Given the description of an element on the screen output the (x, y) to click on. 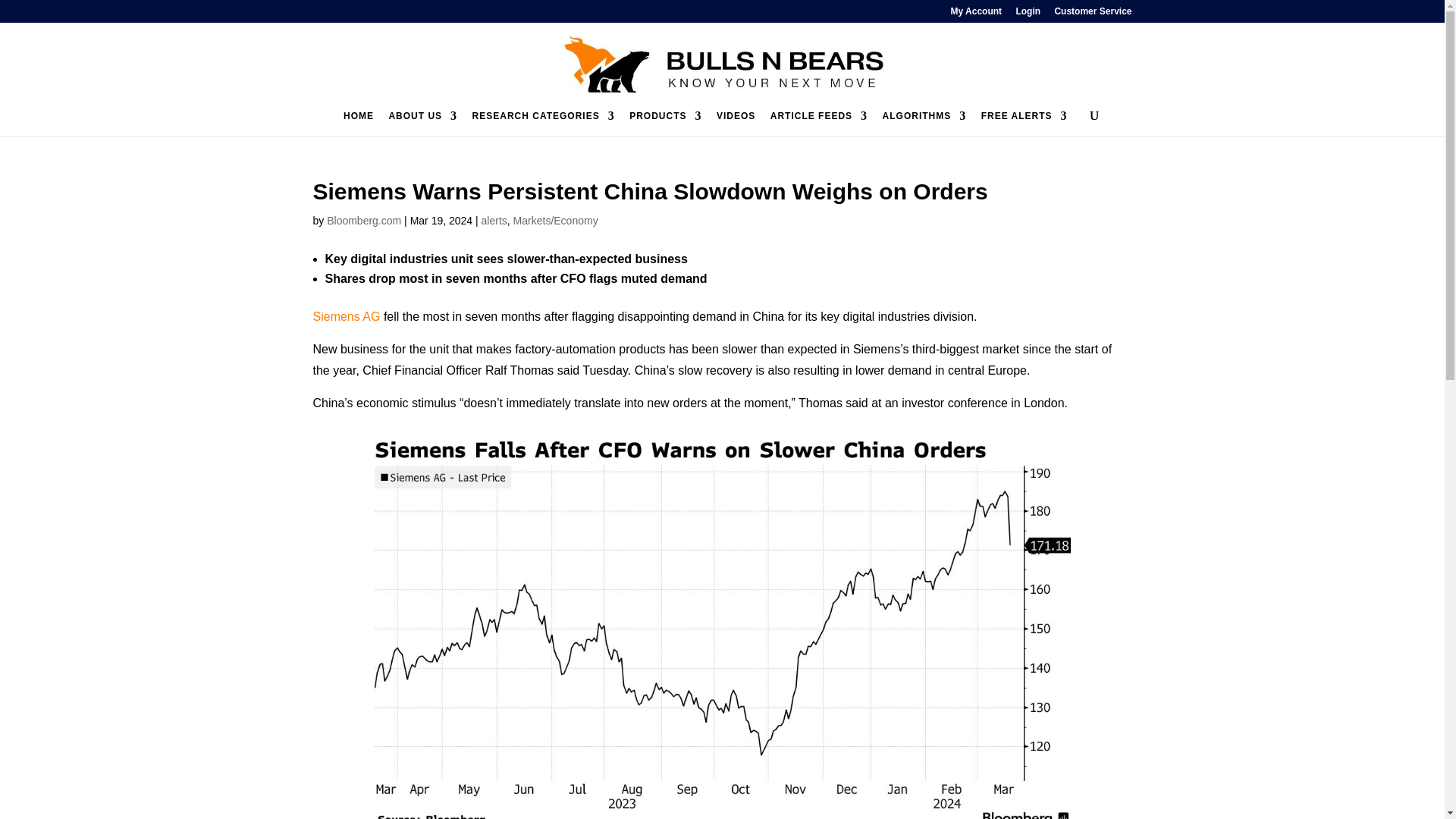
Posts by Bloomberg.com (363, 220)
Customer Service (1092, 14)
FREE ALERTS (1024, 123)
ALGORITHMS (924, 123)
My Account (976, 14)
RESEARCH CATEGORIES (542, 123)
ARTICLE FEEDS (818, 123)
Login (1027, 14)
PRODUCTS (664, 123)
VIDEOS (735, 123)
HOME (358, 123)
ABOUT US (422, 123)
